Given the description of an element on the screen output the (x, y) to click on. 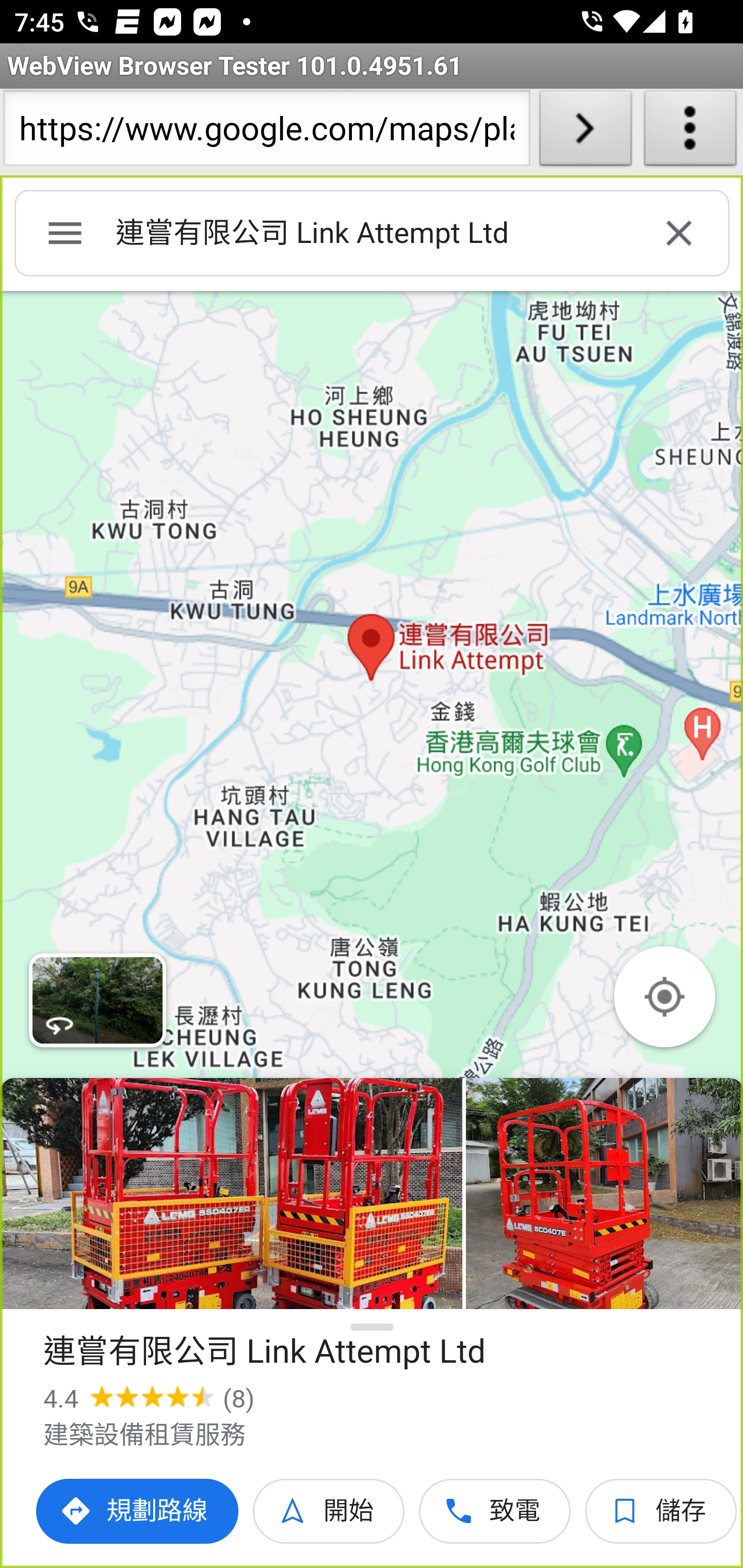
Load URL (585, 132)
About WebView (690, 132)
第 1 張相片 (共 9 張) (231, 1193)
第 2 張相片 (共 9 張) (604, 1193)
顯示詳細資料 (372, 1327)
前往連嘗有限公司 Link Attempt Ltd的路線 (137, 1511)
開始 (329, 1511)
致電「連嘗有限公司 Link Attempt Ltd」  致電 (495, 1511)
將「連嘗有限公司 Link Attempt Ltd」儲存至清單中 (661, 1511)
